Given the description of an element on the screen output the (x, y) to click on. 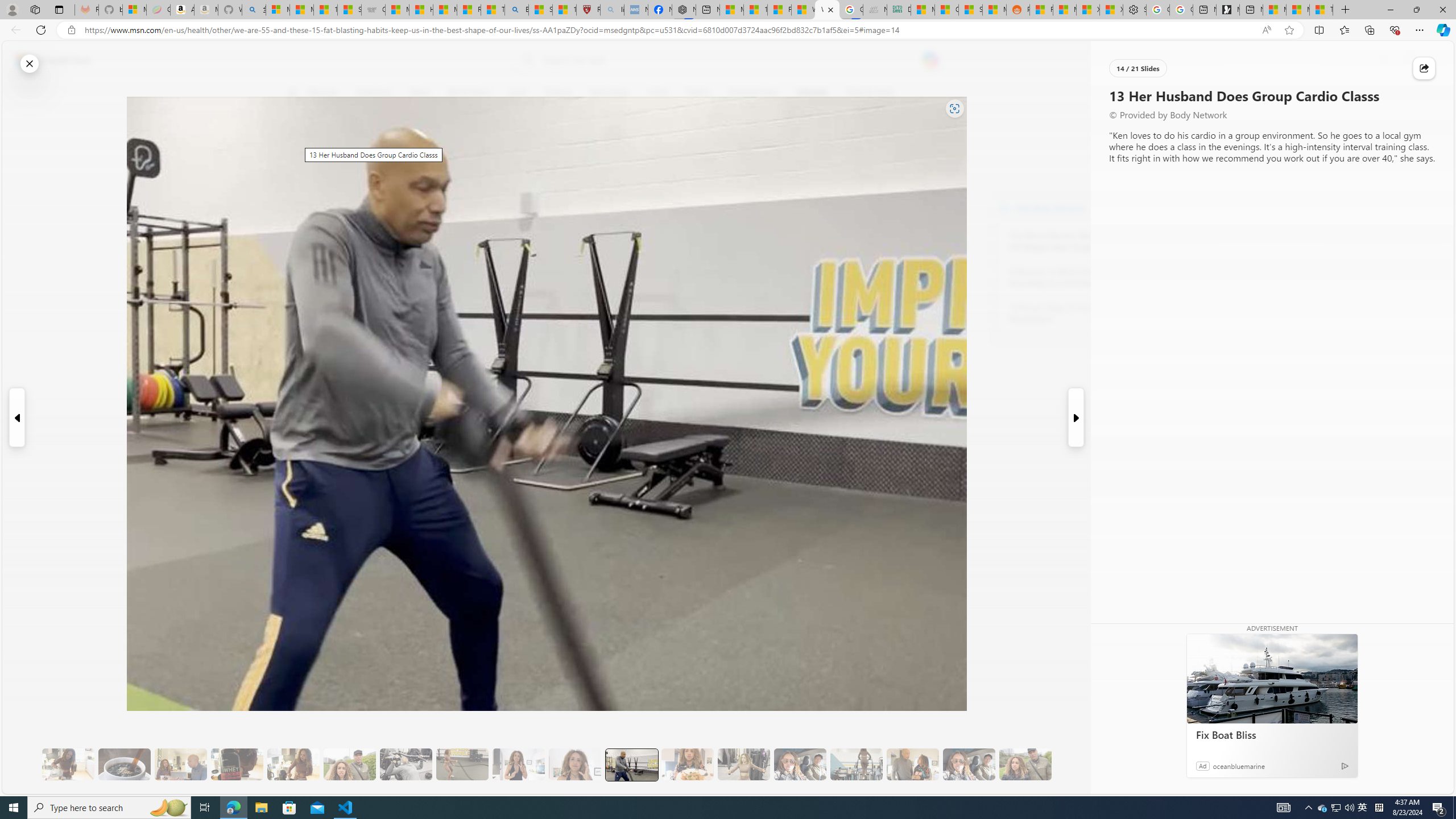
Robert H. Shmerling, MD - Harvard Health (588, 9)
14 They Have Salmon and Veggies for Dinner (687, 764)
Share this story (1423, 67)
14 Common Myths Debunked By Scientific Facts (754, 9)
